Given the description of an element on the screen output the (x, y) to click on. 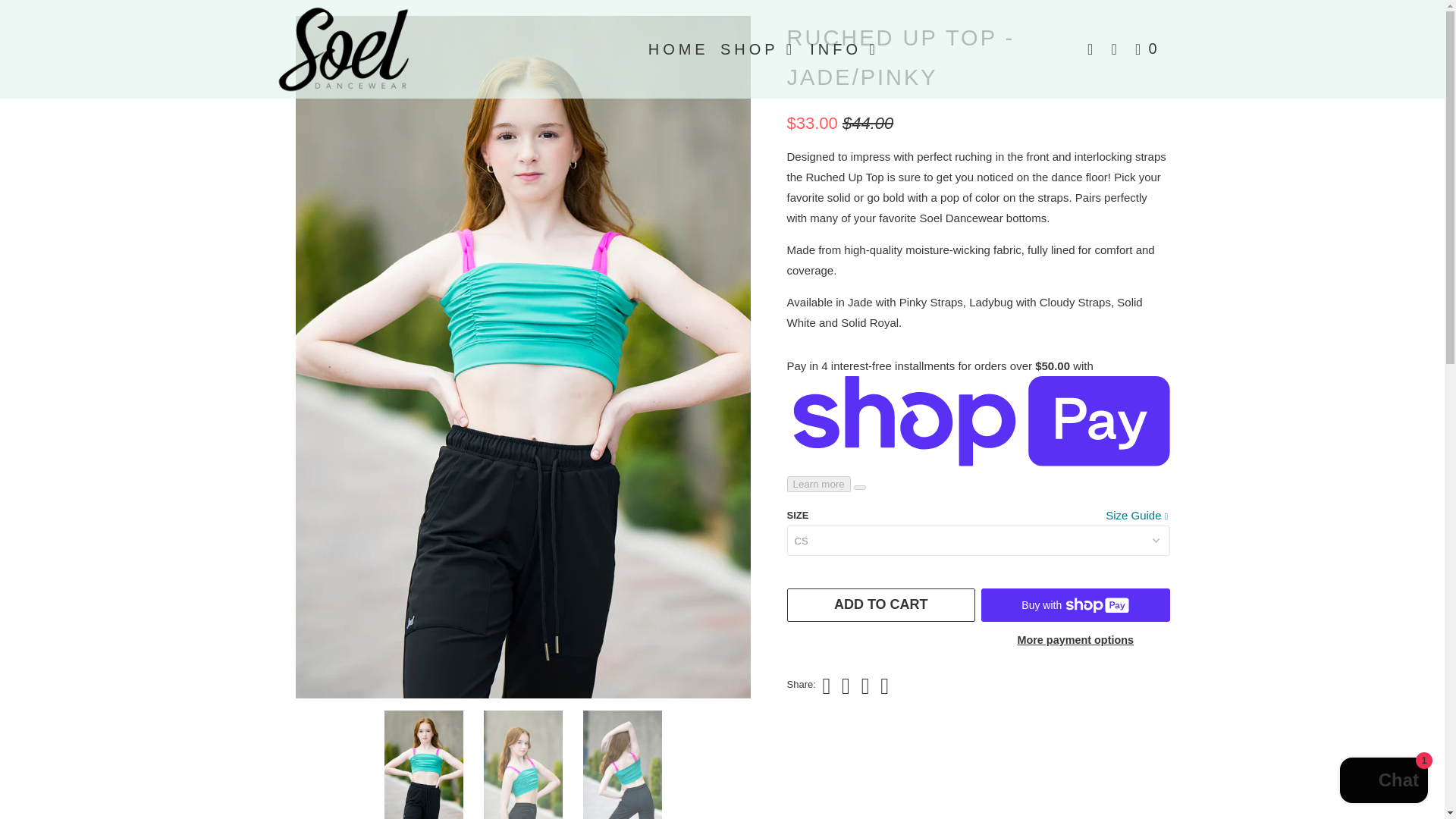
Email this to a friend (882, 685)
Search (1117, 49)
Share this on Pinterest (863, 685)
INFO (845, 49)
My Account  (1093, 49)
Share this on Twitter (823, 685)
0 (1149, 49)
Share this on Facebook (844, 685)
HOME (678, 49)
Soel Dancewear (352, 49)
SHOP (759, 49)
